Given the description of an element on the screen output the (x, y) to click on. 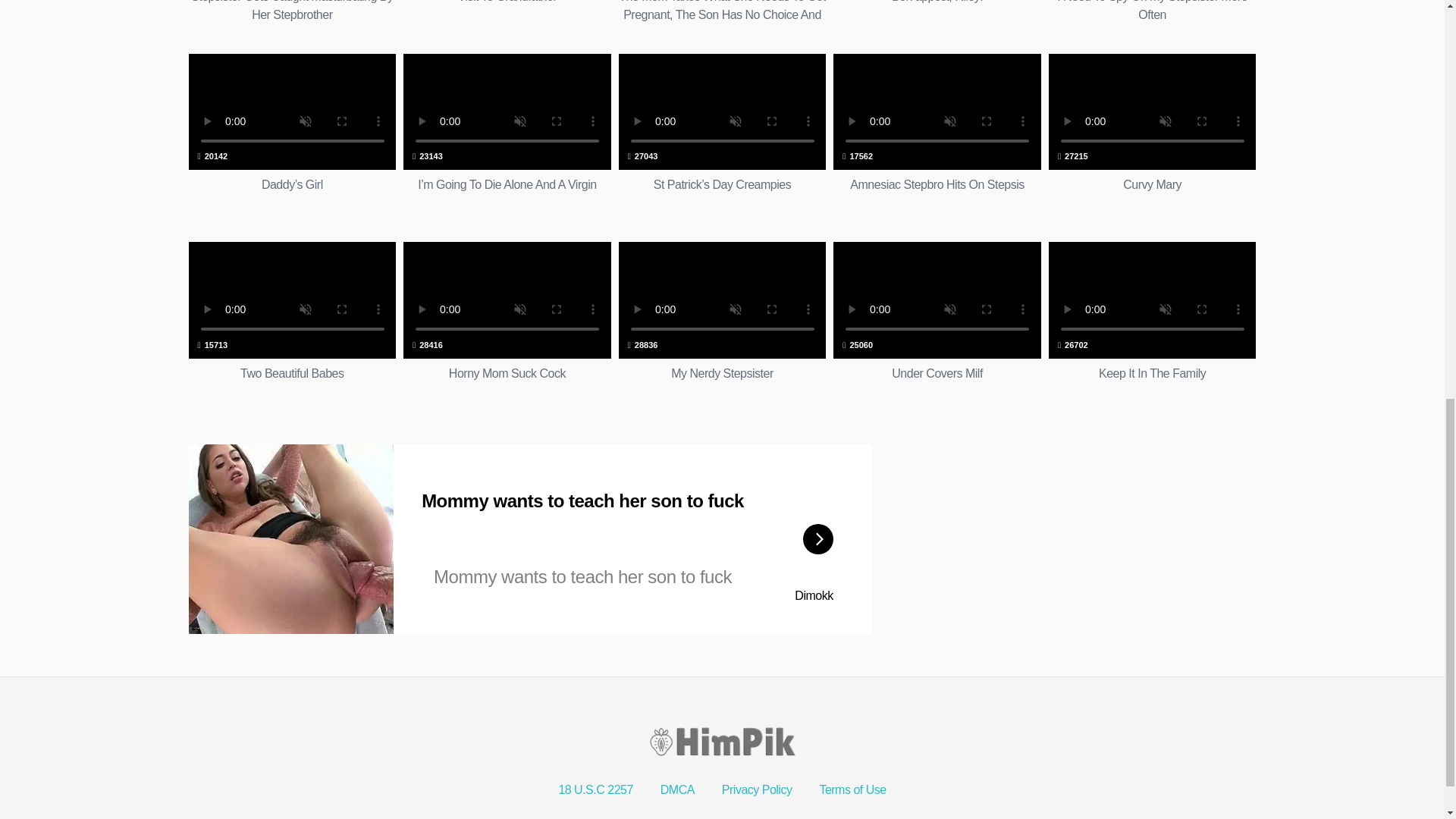
Curvy Mary (507, 12)
Amnesiac Stepbro Hits On Stepsis (1152, 132)
My Nerdy Stepsister (1152, 132)
Stepsister Gets Caught Masturbating By Her Stepbrother (936, 132)
DMCA (1152, 321)
Terms of Use (936, 12)
